Given the description of an element on the screen output the (x, y) to click on. 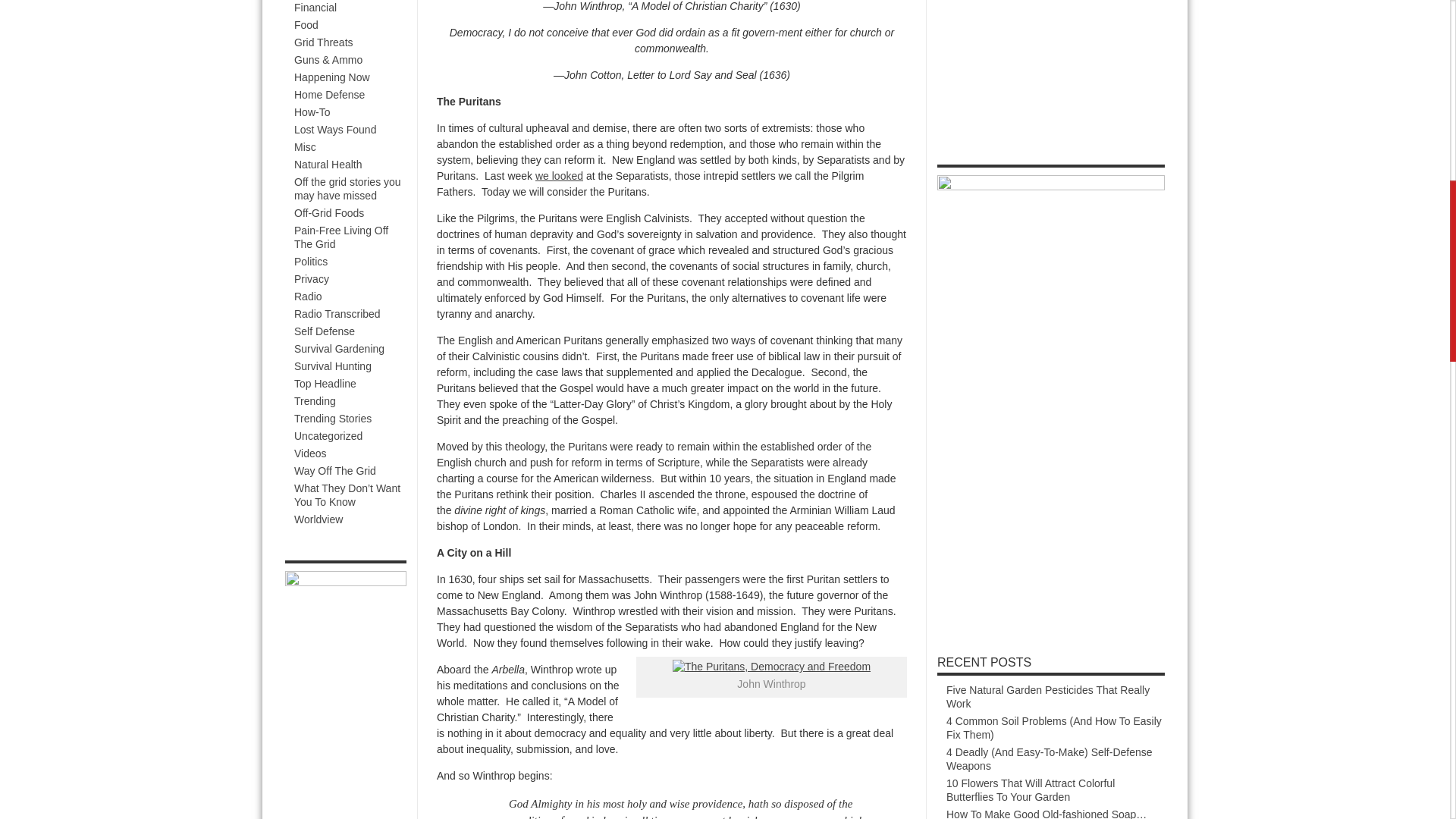
we looked (559, 175)
